Given the description of an element on the screen output the (x, y) to click on. 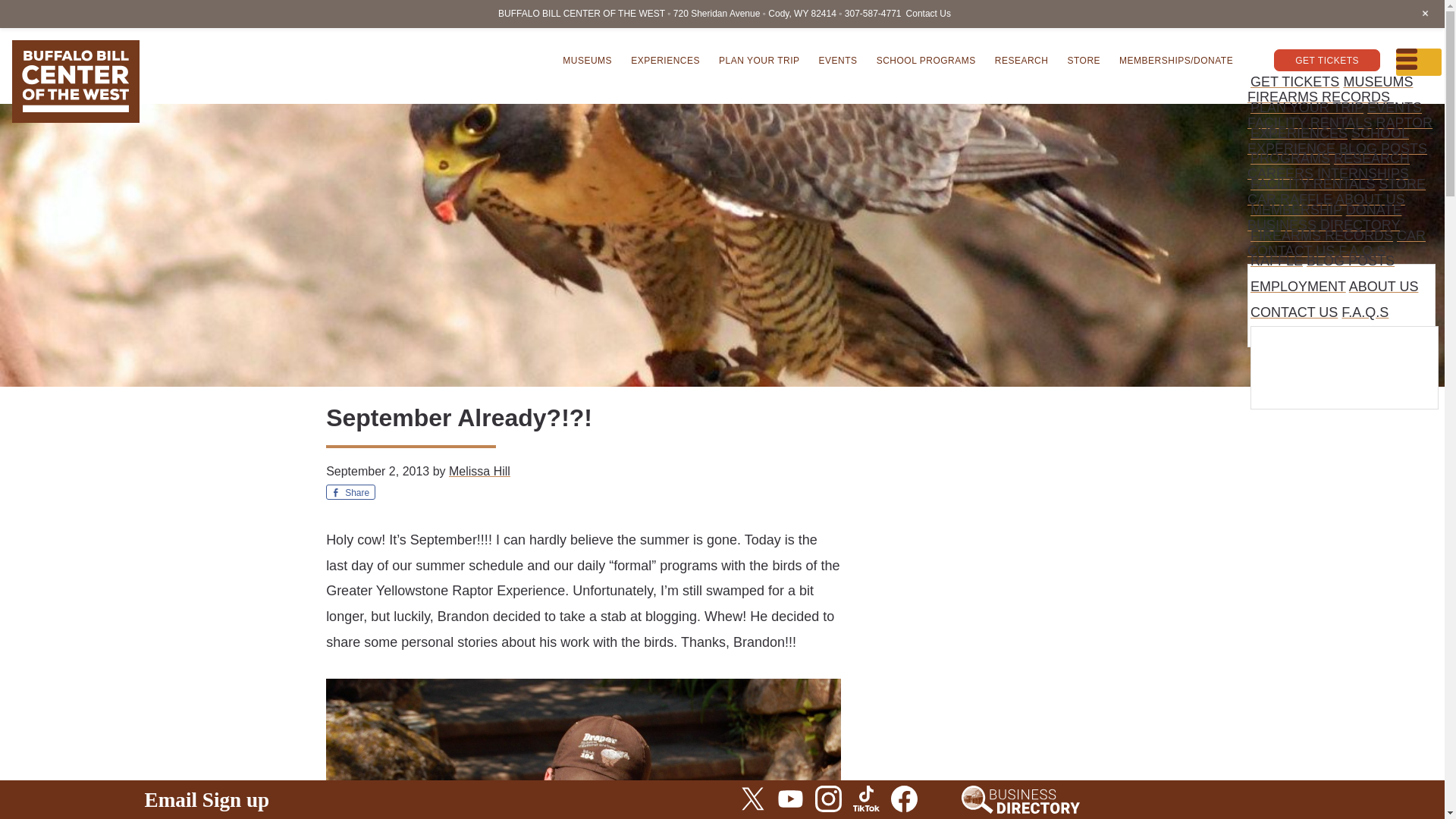
RESEARCH (1022, 59)
MUSEUMS (587, 59)
EVENTS (1394, 107)
RAPTOR EXPERIENCE (1339, 135)
BUSINESS DIRECTORY (1323, 224)
CONTACT US (1291, 249)
EVENTS (837, 59)
INTERNSHIPS (1363, 173)
SCHOOL PROGRAMS (1329, 146)
MUSEUMS (1377, 81)
GET TICKETS (1326, 59)
PLAN YOUR TRIP (759, 59)
Buffalo Bill Center of the West, Cody Wyoming (75, 81)
GET TICKETS (1294, 81)
STORE (1401, 183)
